Given the description of an element on the screen output the (x, y) to click on. 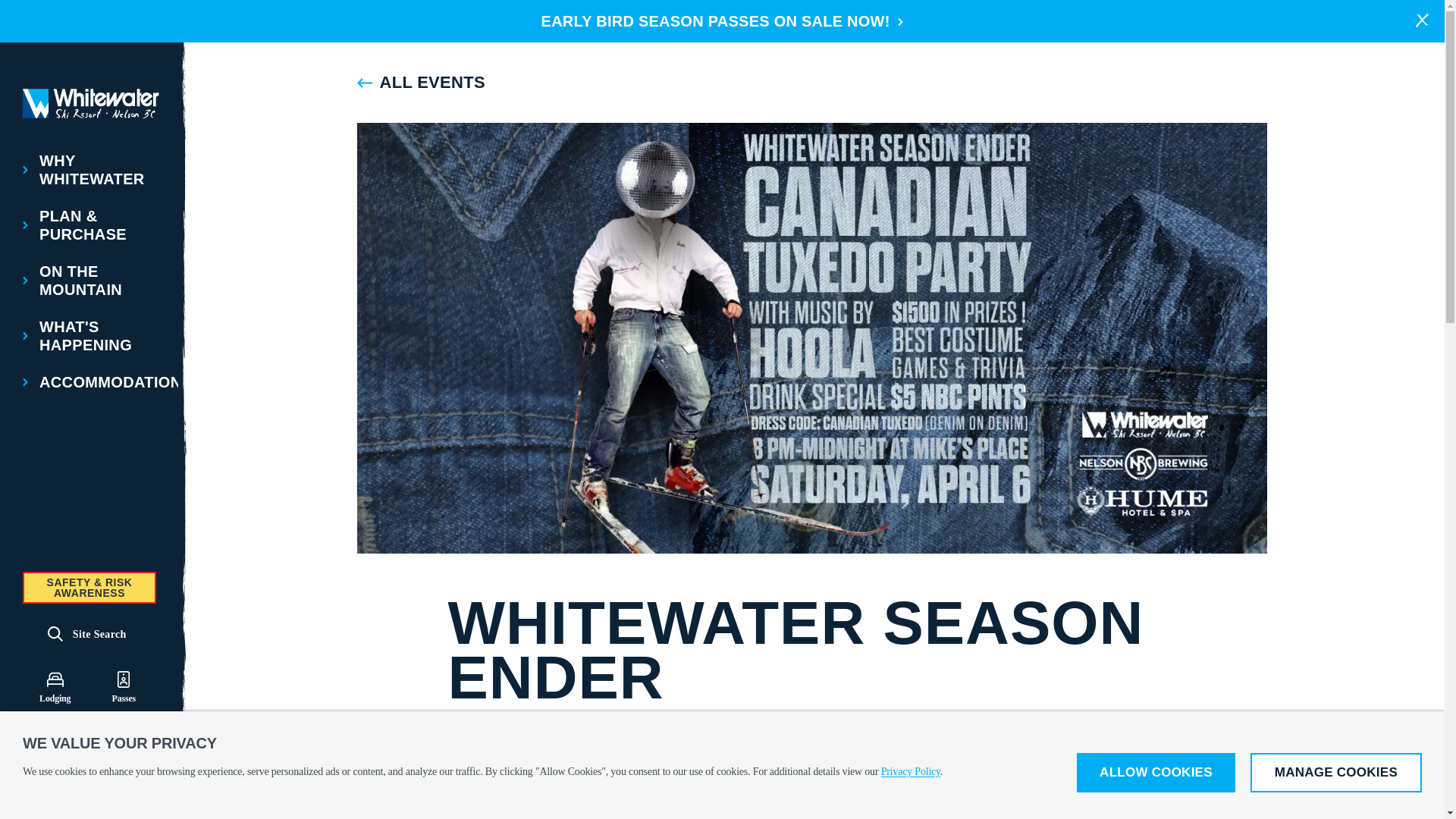
WHY WHITEWATER (89, 169)
ON THE MOUNTAIN (89, 280)
Site Search (86, 636)
WHAT'S HAPPENING (89, 335)
EARLY BIRD SEASON PASSES ON SALE NOW! (722, 21)
